Given the description of an element on the screen output the (x, y) to click on. 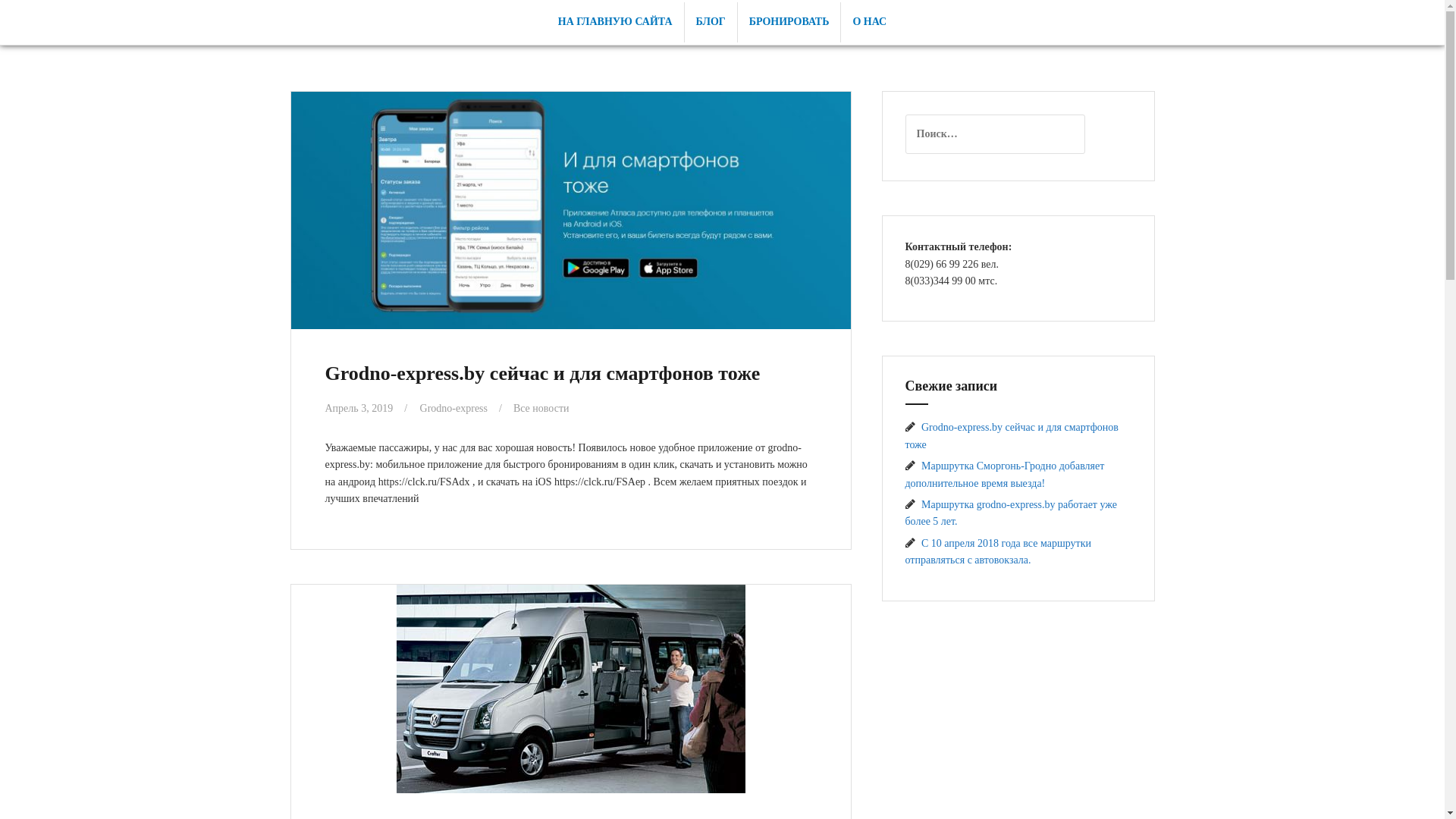
Grodno-express Element type: text (453, 407)
